Given the description of an element on the screen output the (x, y) to click on. 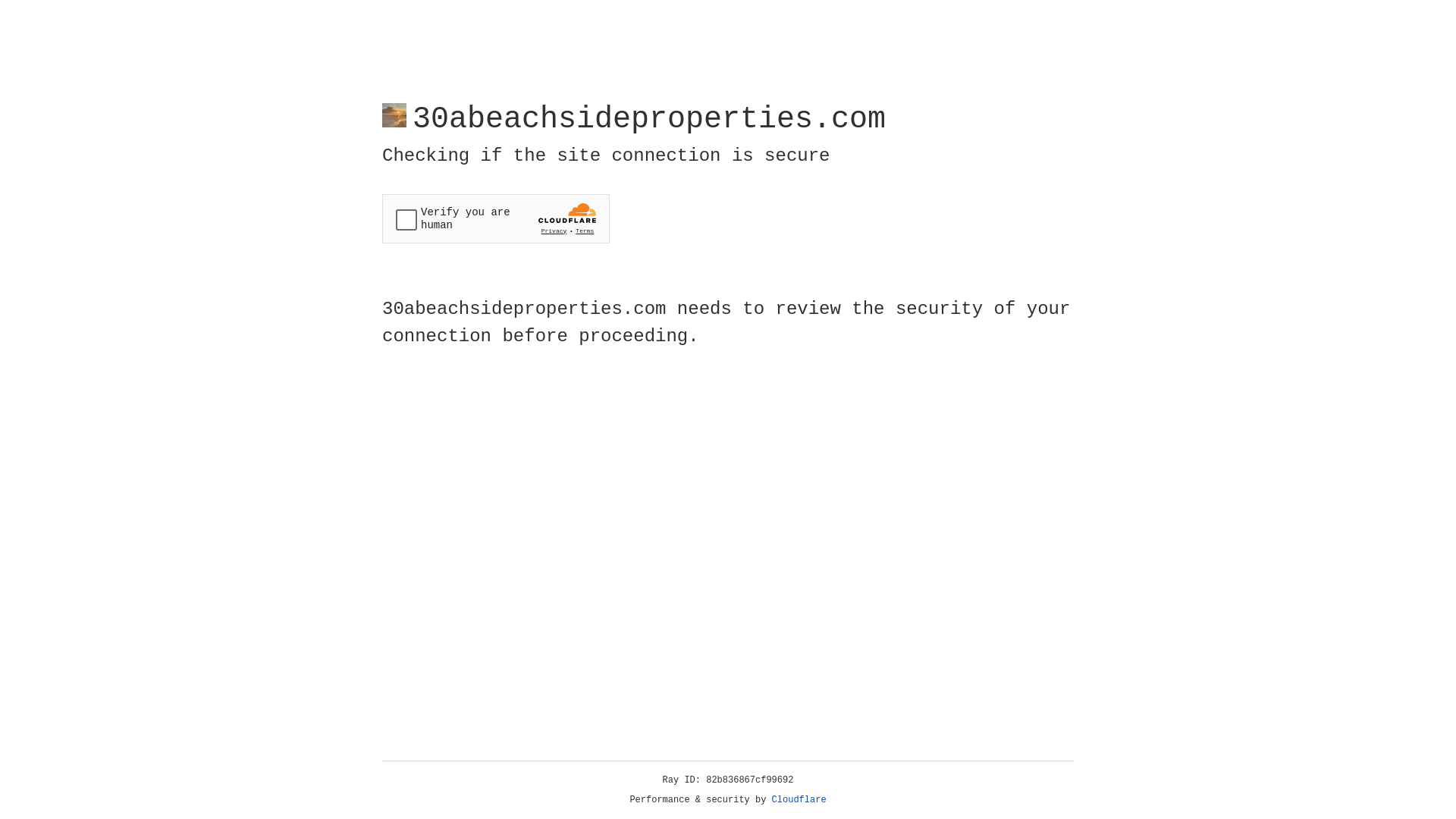
Widget containing a Cloudflare security challenge Element type: hover (495, 218)
Cloudflare Element type: text (798, 799)
